Given the description of an element on the screen output the (x, y) to click on. 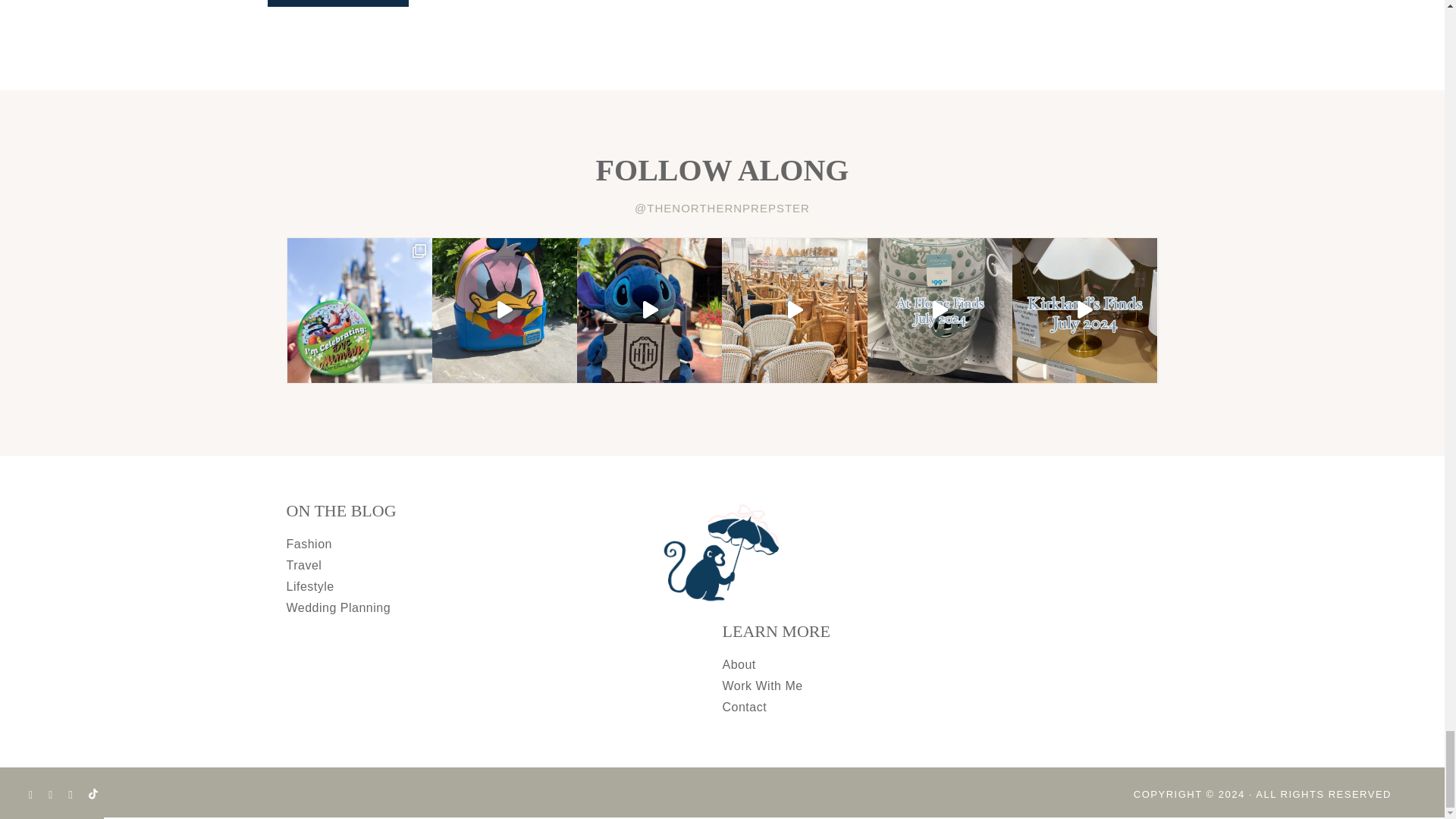
Post Comment (336, 3)
